Given the description of an element on the screen output the (x, y) to click on. 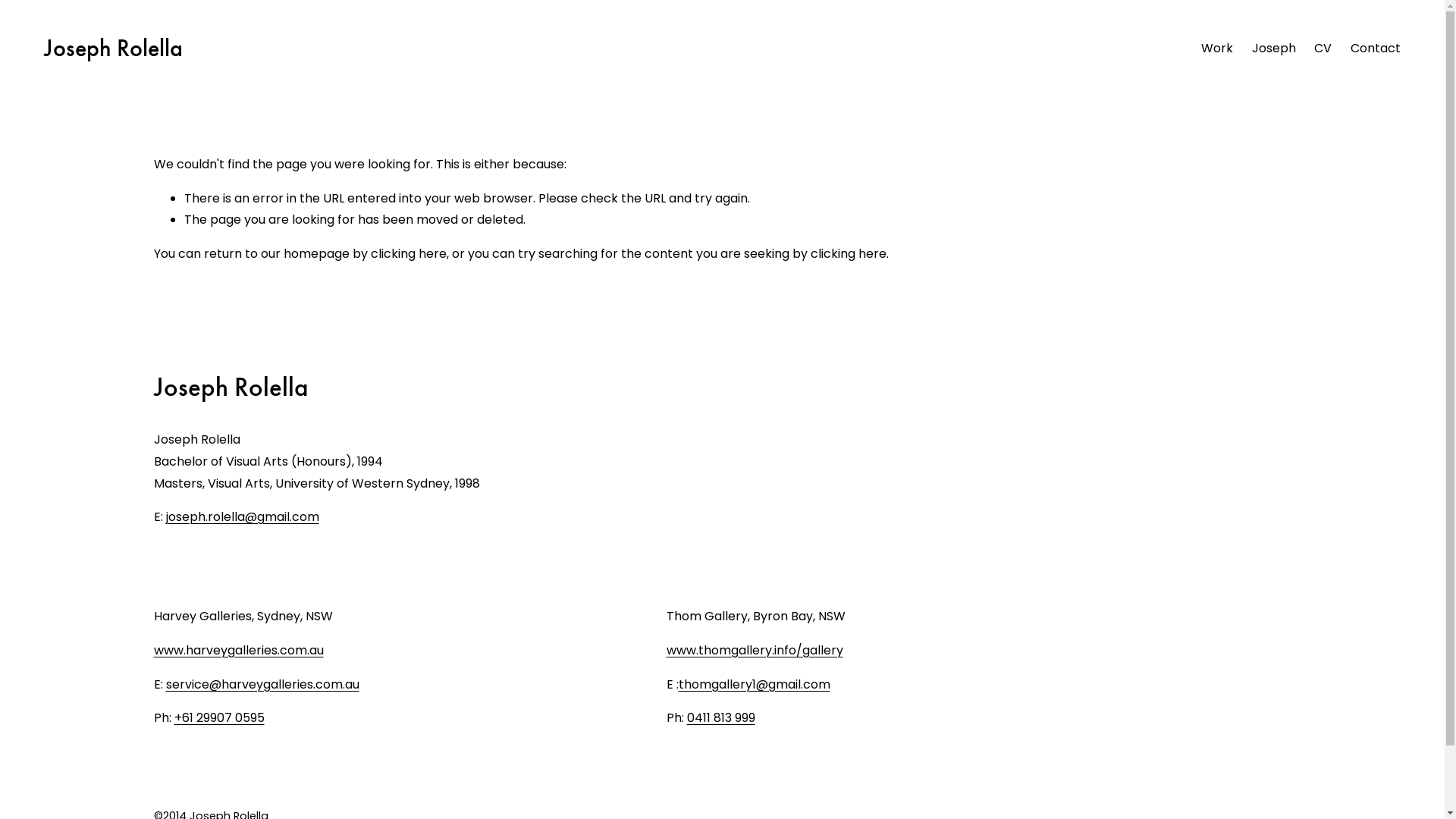
thomgallery1@gmail.com Element type: text (754, 685)
www.thomgallery.info/gallery Element type: text (754, 651)
CV Element type: text (1322, 49)
www.harveygalleries.com.au Element type: text (238, 651)
service@harveygalleries.com.au Element type: text (261, 685)
Joseph Element type: text (1273, 49)
clicking here Element type: text (407, 253)
0411 813 999 Element type: text (721, 718)
+61 29907 0595 Element type: text (219, 718)
Joseph Rolella Element type: text (112, 47)
Work Element type: text (1217, 49)
Contact Element type: text (1375, 49)
clicking here Element type: text (847, 253)
joseph.rolella@gmail.com Element type: text (241, 517)
